Given the description of an element on the screen output the (x, y) to click on. 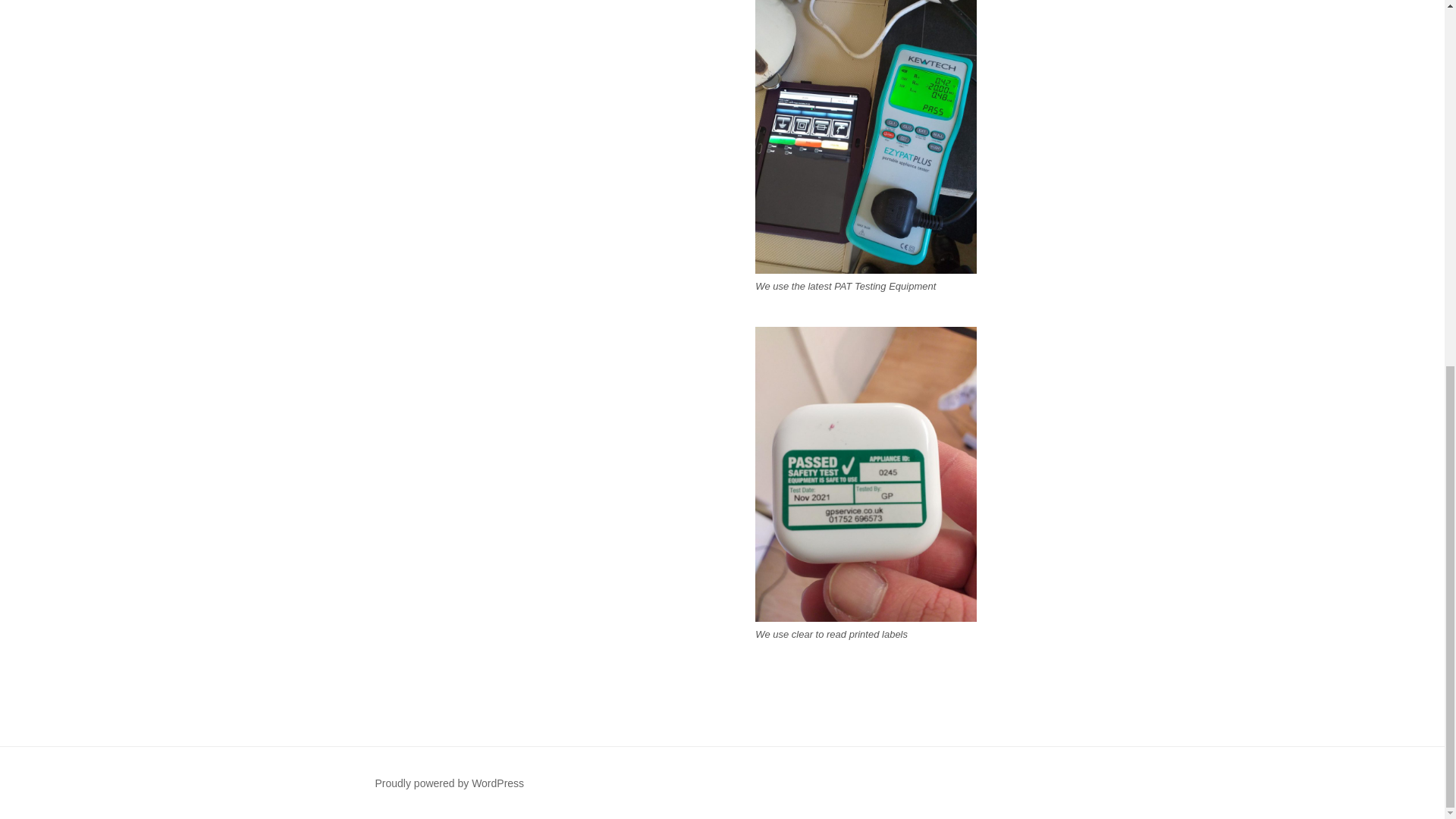
Proudly powered by WordPress (449, 783)
